Given the description of an element on the screen output the (x, y) to click on. 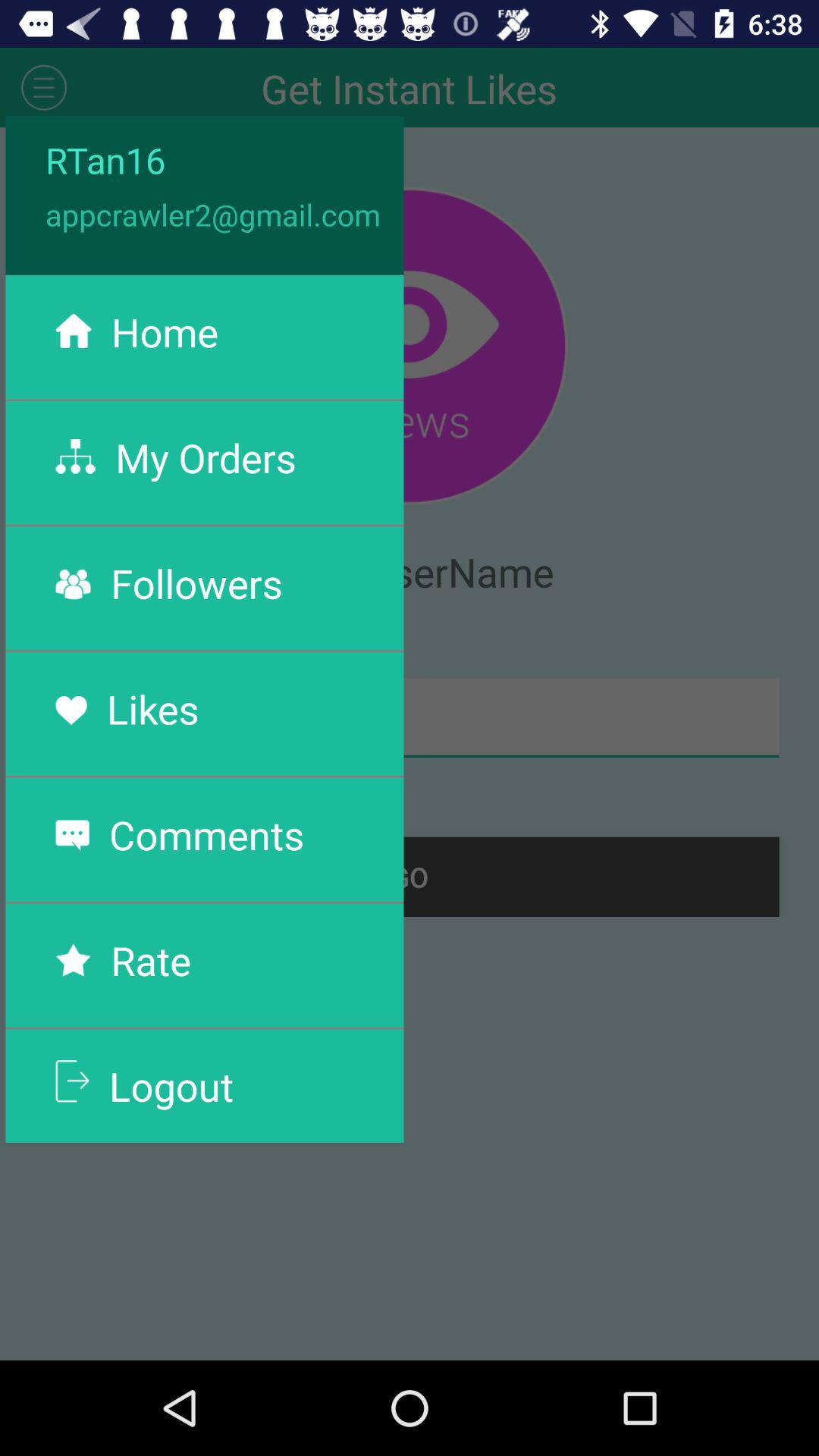
scroll until the my orders app (205, 457)
